Given the description of an element on the screen output the (x, y) to click on. 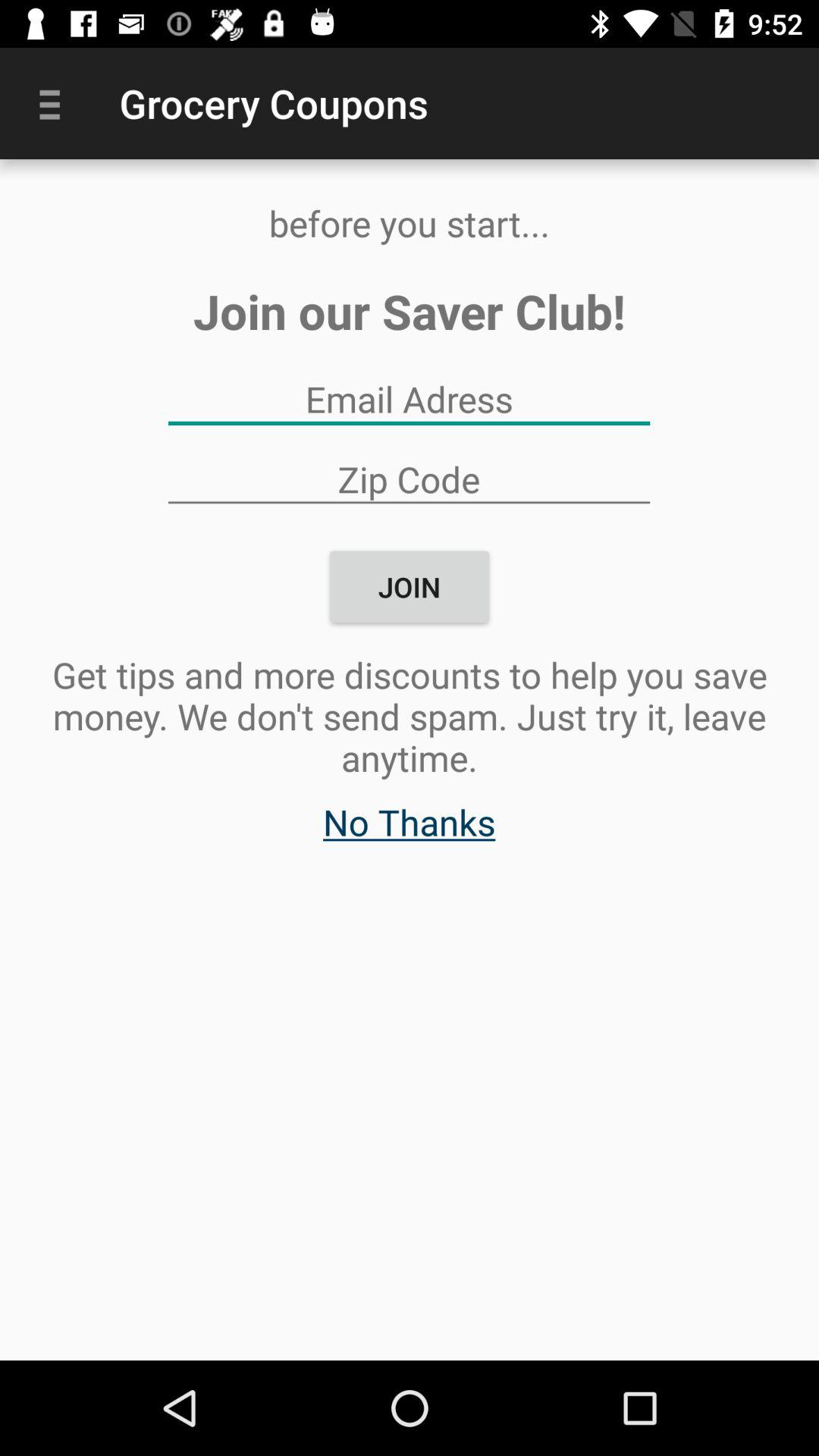
launch no thanks icon (409, 829)
